Given the description of an element on the screen output the (x, y) to click on. 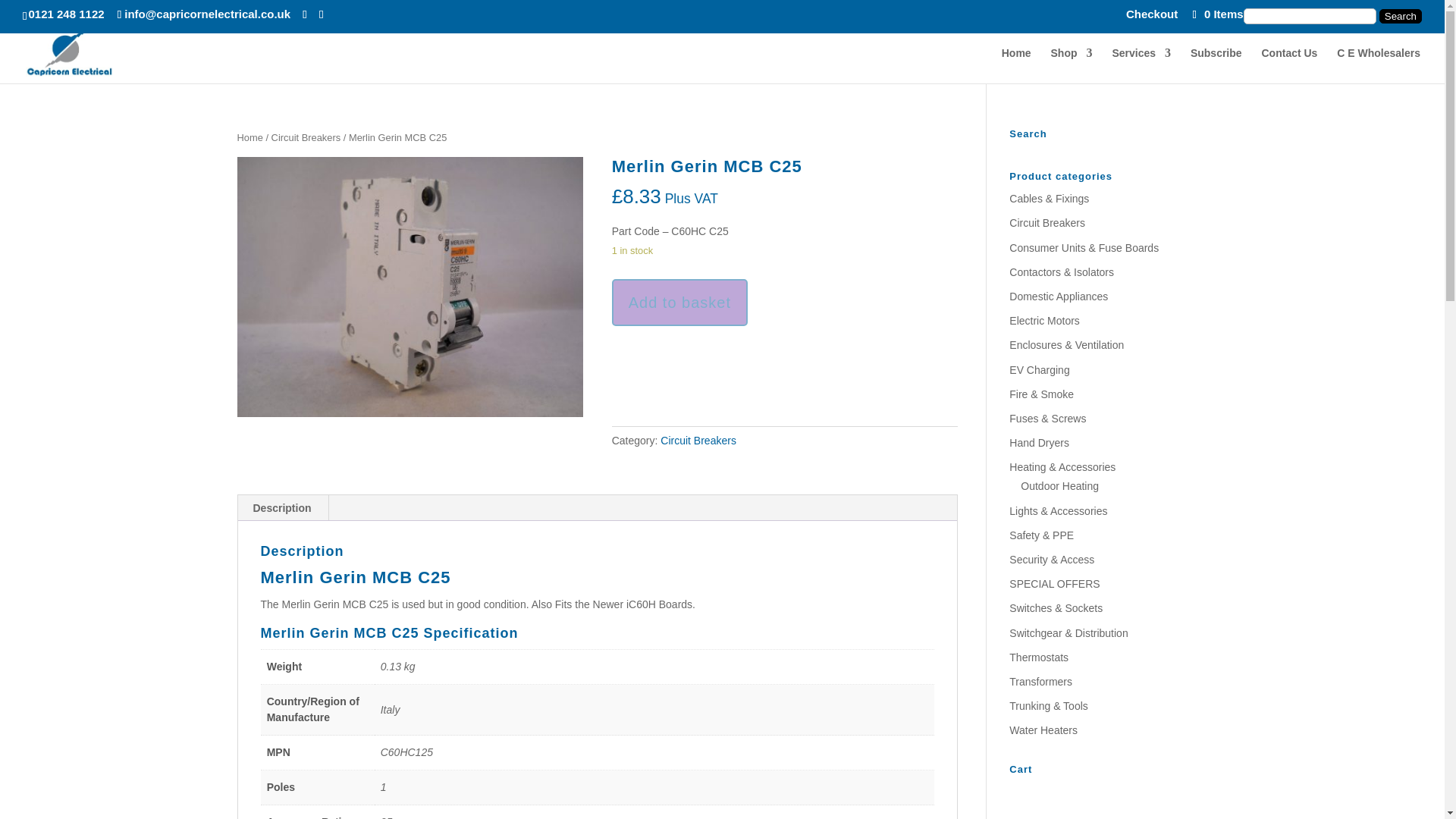
Services (1141, 65)
Add to basket (679, 302)
Circuit Breakers (305, 137)
Checkout (1151, 17)
Merlin Gerin MCB C25 (408, 286)
Description (282, 507)
C E Wholesalers (1378, 65)
0 Items (1216, 13)
Home (248, 137)
Subscribe (1216, 65)
Circuit Breakers (698, 440)
Search (1400, 16)
Shop (1072, 65)
Search (1400, 16)
Contact Us (1289, 65)
